Given the description of an element on the screen output the (x, y) to click on. 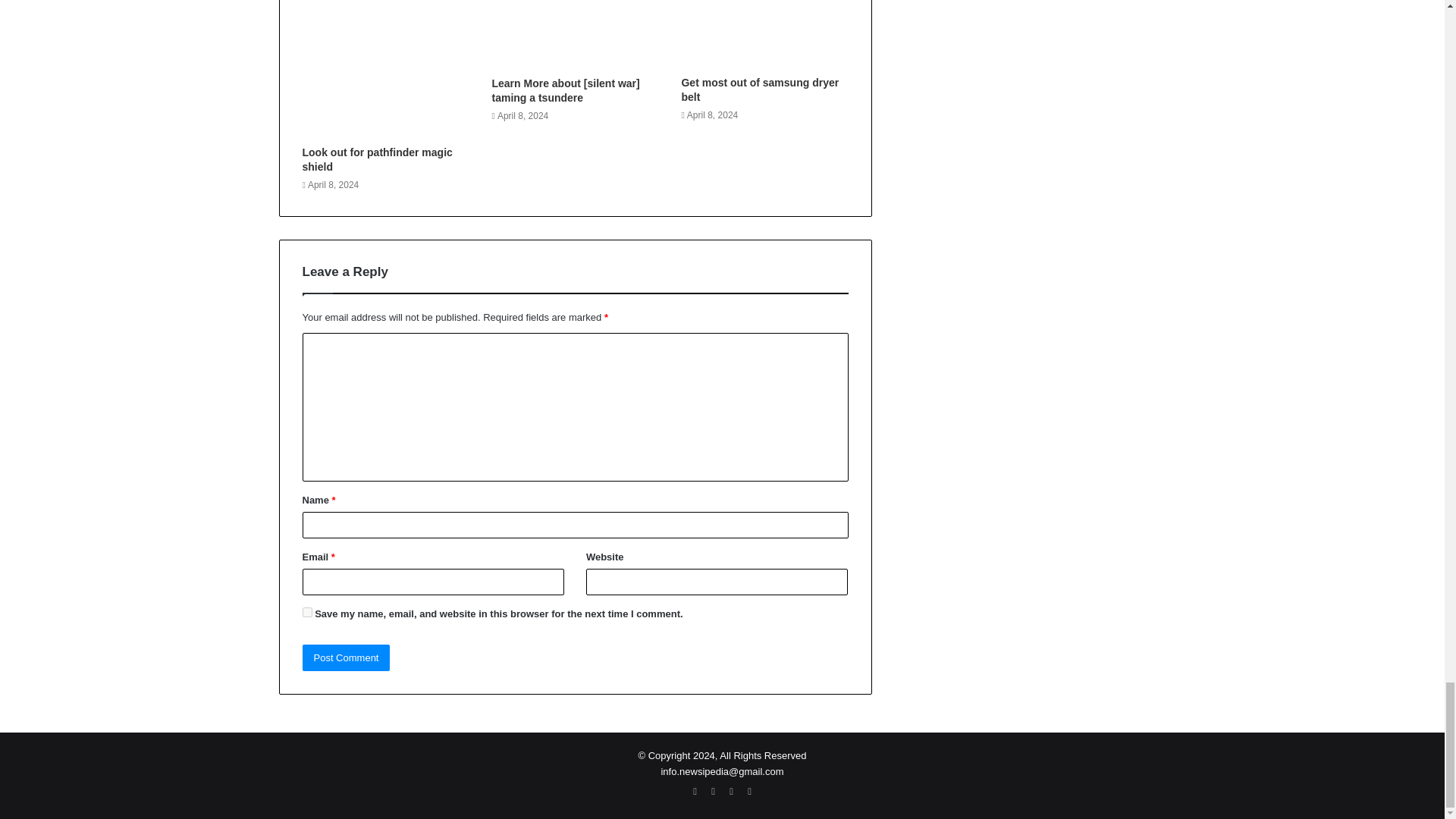
Post Comment (345, 657)
yes (306, 612)
